Given the description of an element on the screen output the (x, y) to click on. 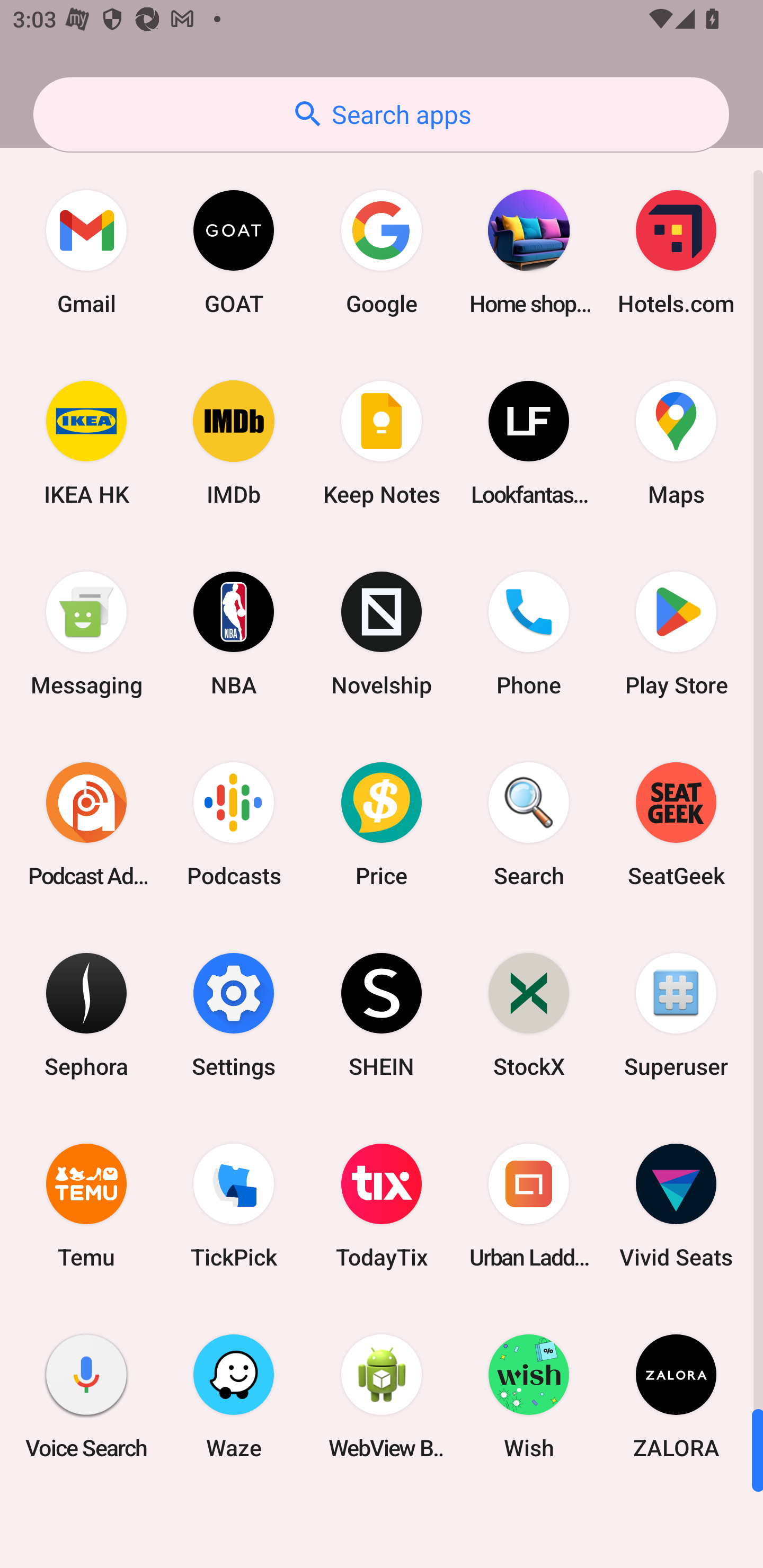
  Search apps (381, 114)
Gmail (86, 252)
GOAT (233, 252)
Google (381, 252)
Home shopping (528, 252)
Hotels.com (676, 252)
IKEA HK (86, 442)
IMDb (233, 442)
Keep Notes (381, 442)
Lookfantastic (528, 442)
Maps (676, 442)
Messaging (86, 633)
NBA (233, 633)
Novelship (381, 633)
Phone (528, 633)
Play Store (676, 633)
Podcast Addict (86, 823)
Podcasts (233, 823)
Price (381, 823)
Search (528, 823)
SeatGeek (676, 823)
Sephora (86, 1014)
Settings (233, 1014)
SHEIN (381, 1014)
StockX (528, 1014)
Superuser (676, 1014)
Temu (86, 1205)
TickPick (233, 1205)
TodayTix (381, 1205)
Urban Ladder (528, 1205)
Vivid Seats (676, 1205)
Voice Search (86, 1396)
Waze (233, 1396)
WebView Browser Tester (381, 1396)
Wish (528, 1396)
ZALORA (676, 1396)
